Given the description of an element on the screen output the (x, y) to click on. 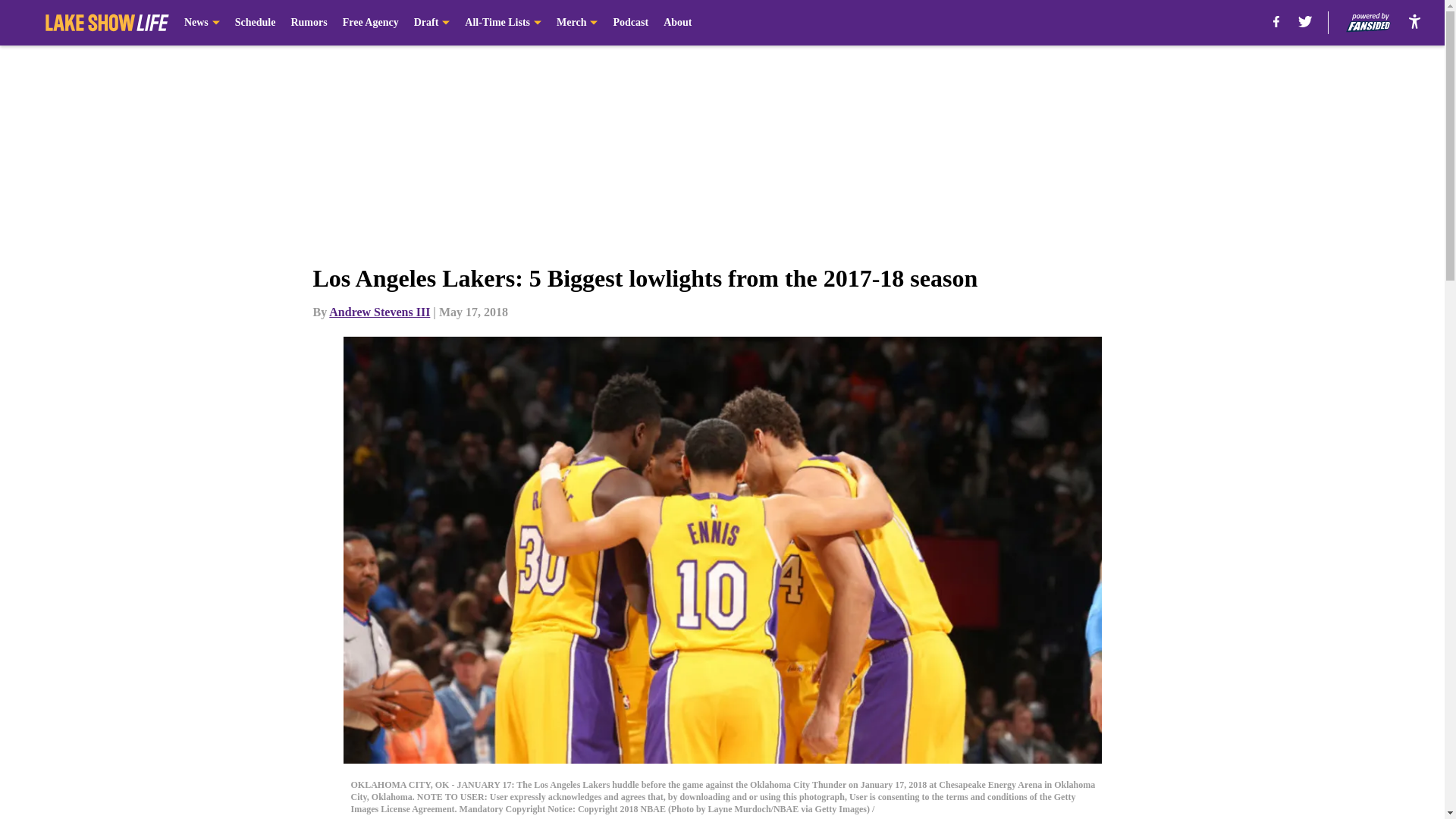
News (201, 22)
Draft (431, 22)
Rumors (307, 22)
Podcast (629, 22)
Andrew Stevens III (379, 311)
Schedule (255, 22)
About (677, 22)
Free Agency (370, 22)
All-Time Lists (502, 22)
